Given the description of an element on the screen output the (x, y) to click on. 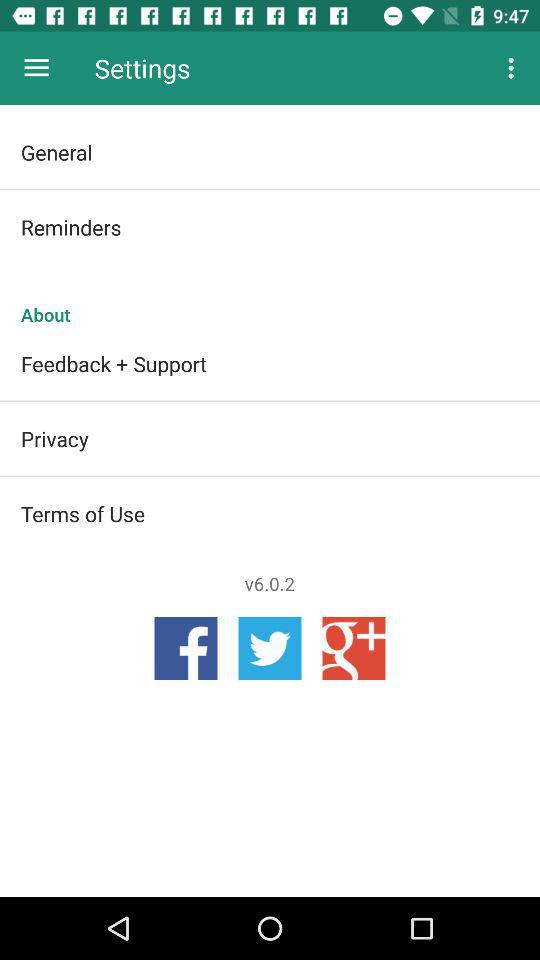
flip until the terms of use item (270, 513)
